Given the description of an element on the screen output the (x, y) to click on. 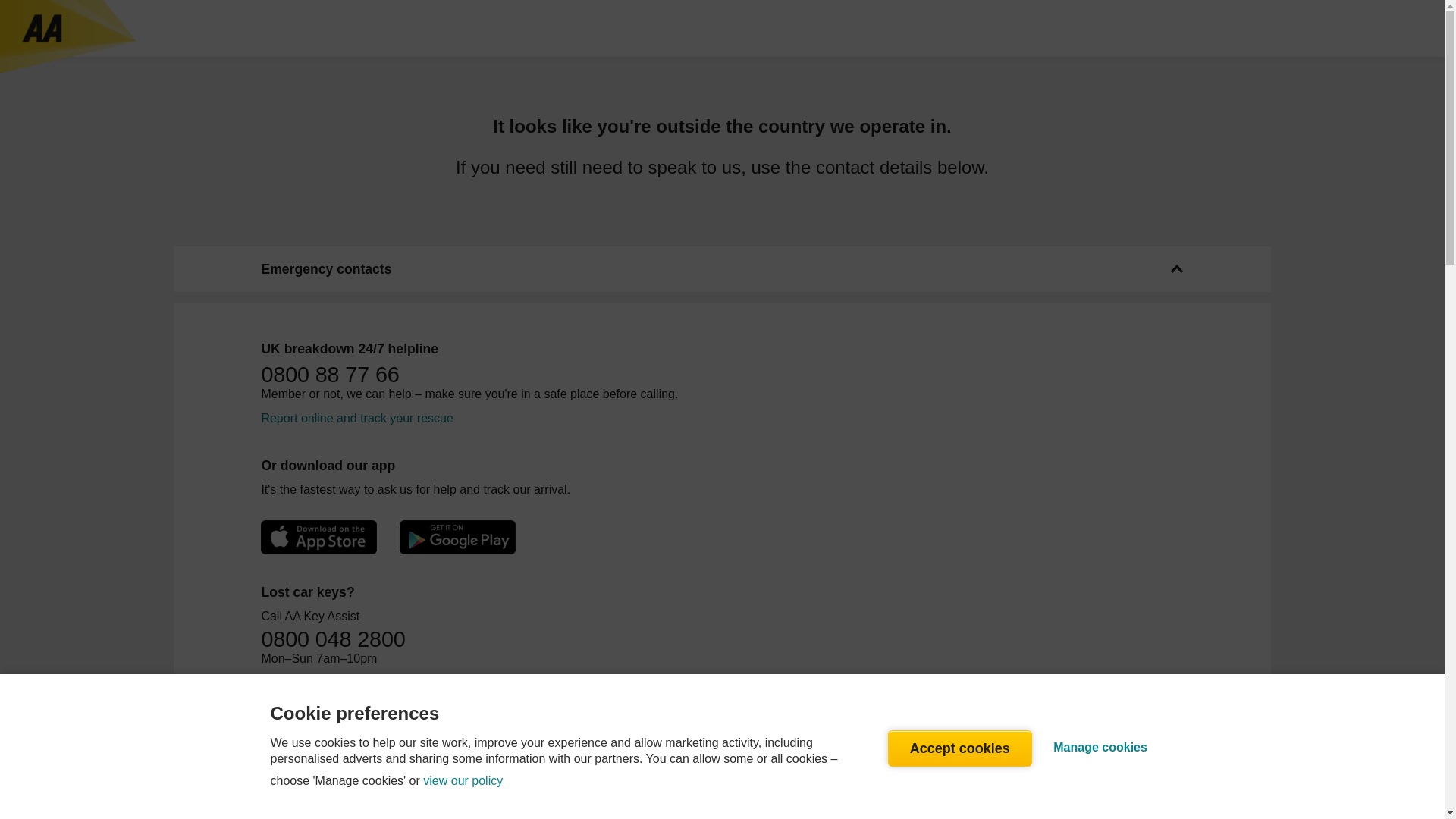
Report online and track your rescue (356, 418)
Manage cookies (1099, 747)
Accept cookies (960, 748)
view our policy (462, 780)
